Given the description of an element on the screen output the (x, y) to click on. 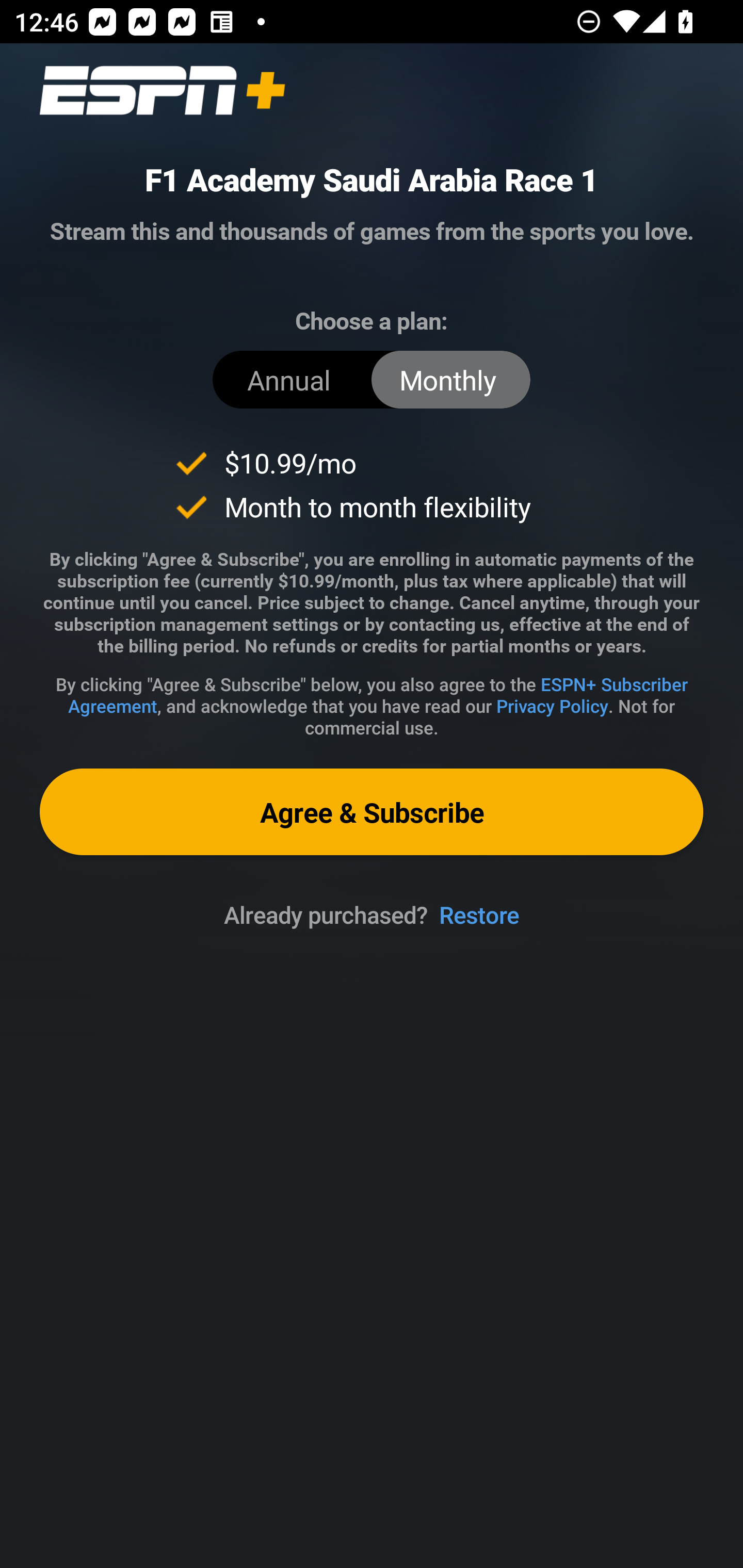
Agree & Subscribe (371, 811)
